Given the description of an element on the screen output the (x, y) to click on. 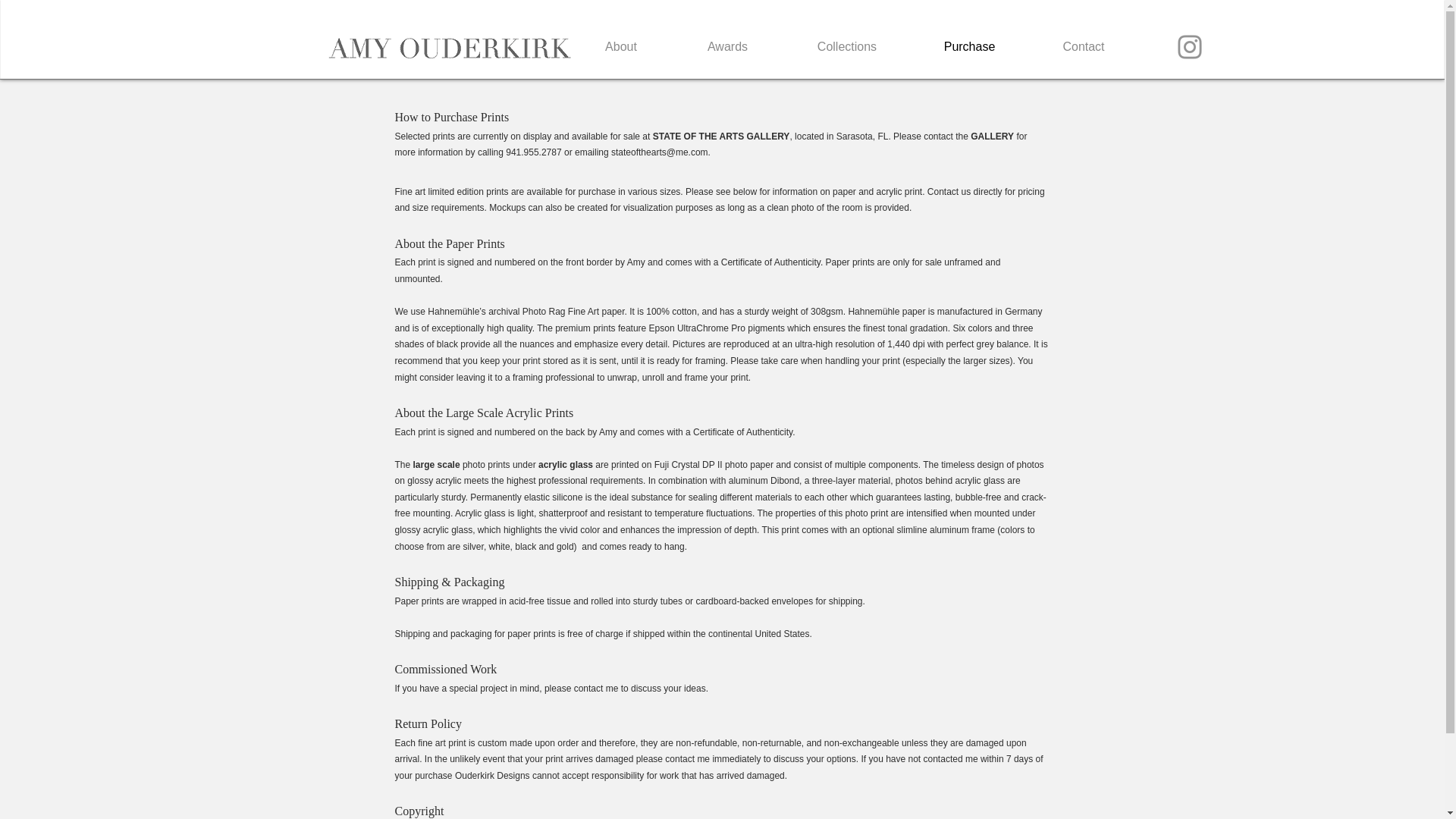
About (621, 46)
Awards (727, 46)
Collections (847, 46)
Purchase (969, 46)
Contact (1083, 46)
